Given the description of an element on the screen output the (x, y) to click on. 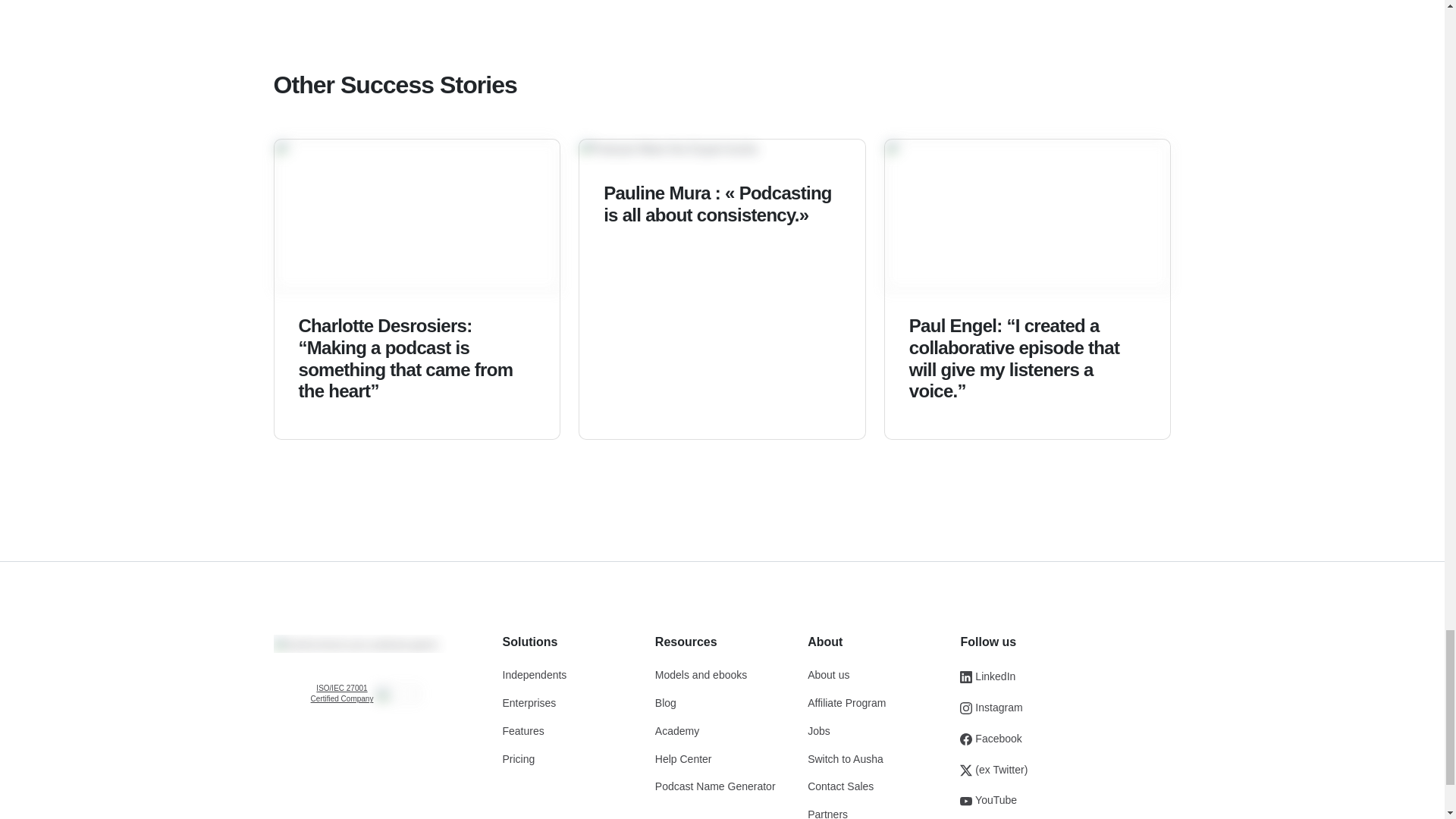
Download PDF Certificate (341, 693)
